Given the description of an element on the screen output the (x, y) to click on. 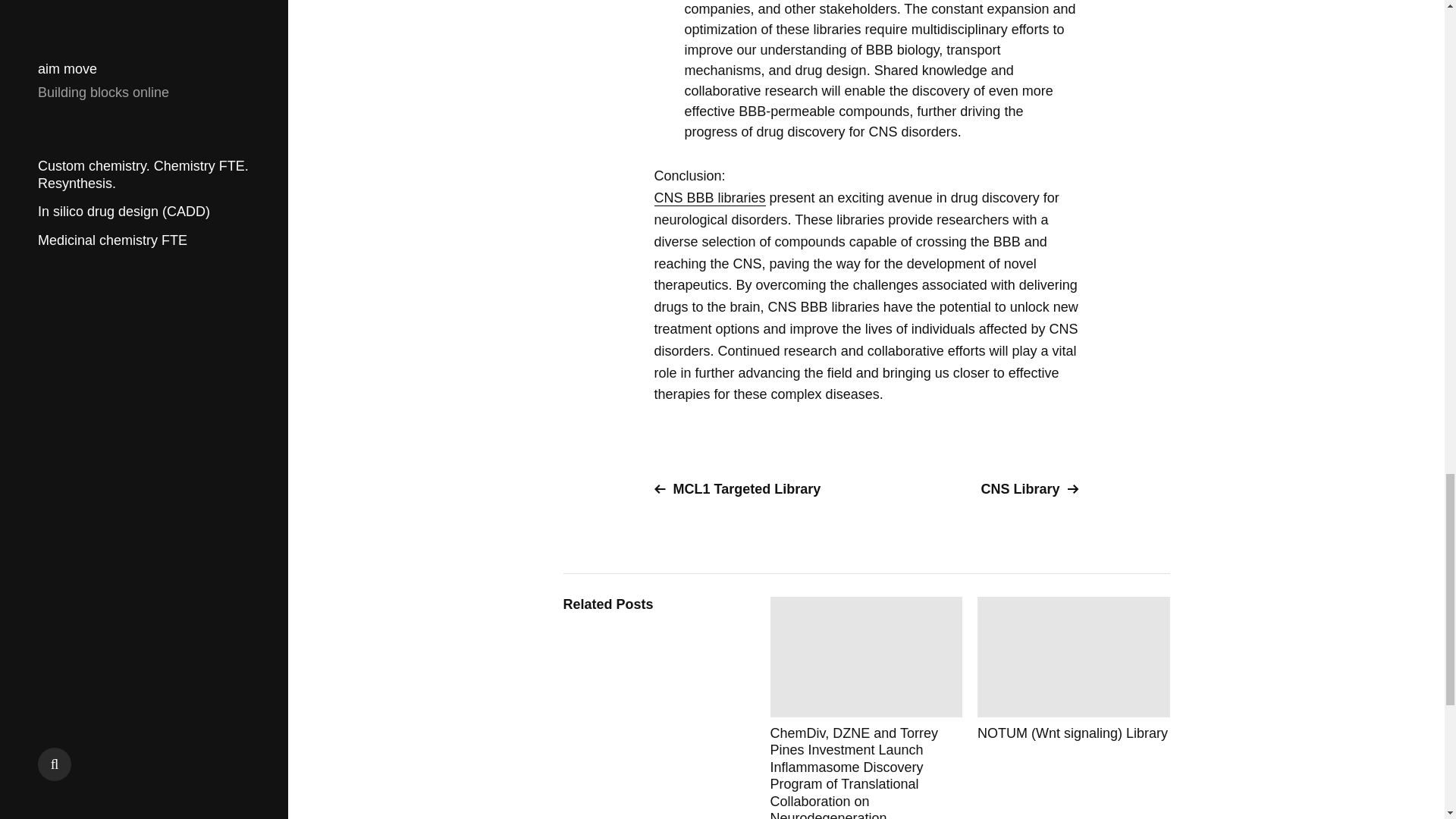
CNS BBB libraries (709, 198)
MCL1 Targeted Library (753, 489)
CNS Library (977, 489)
